Given the description of an element on the screen output the (x, y) to click on. 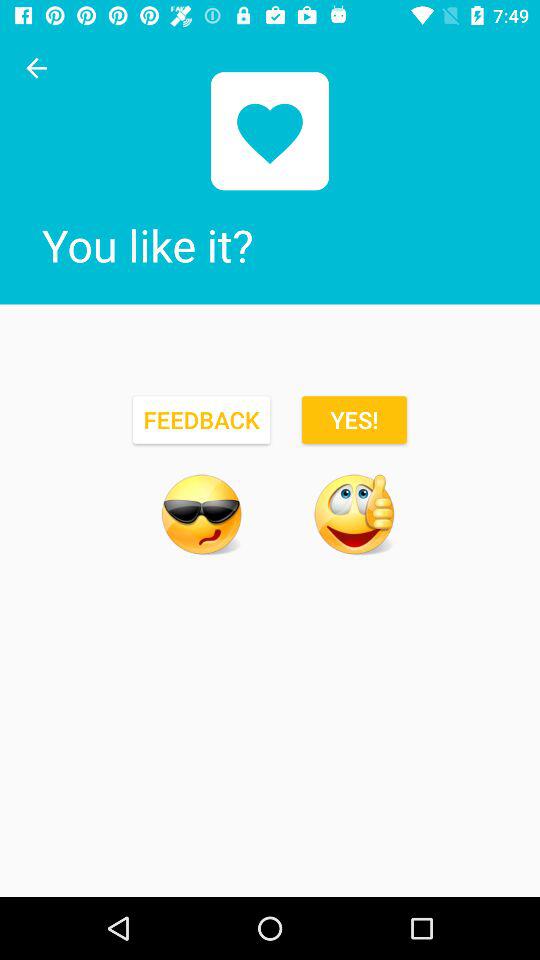
an emoji meaning yes or good (354, 514)
